Given the description of an element on the screen output the (x, y) to click on. 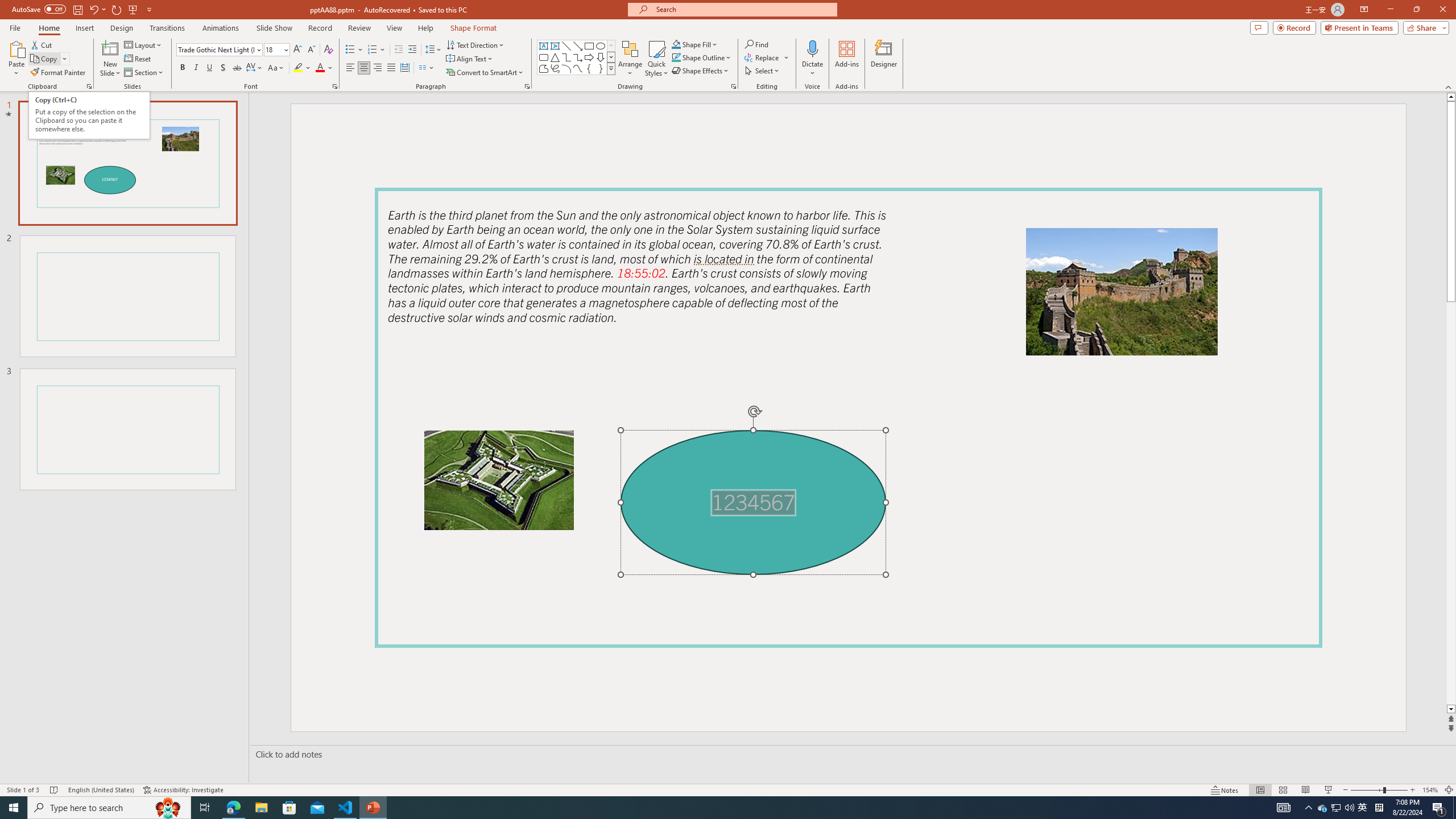
Shape Outline Teal, Accent 1 (675, 56)
